Given the description of an element on the screen output the (x, y) to click on. 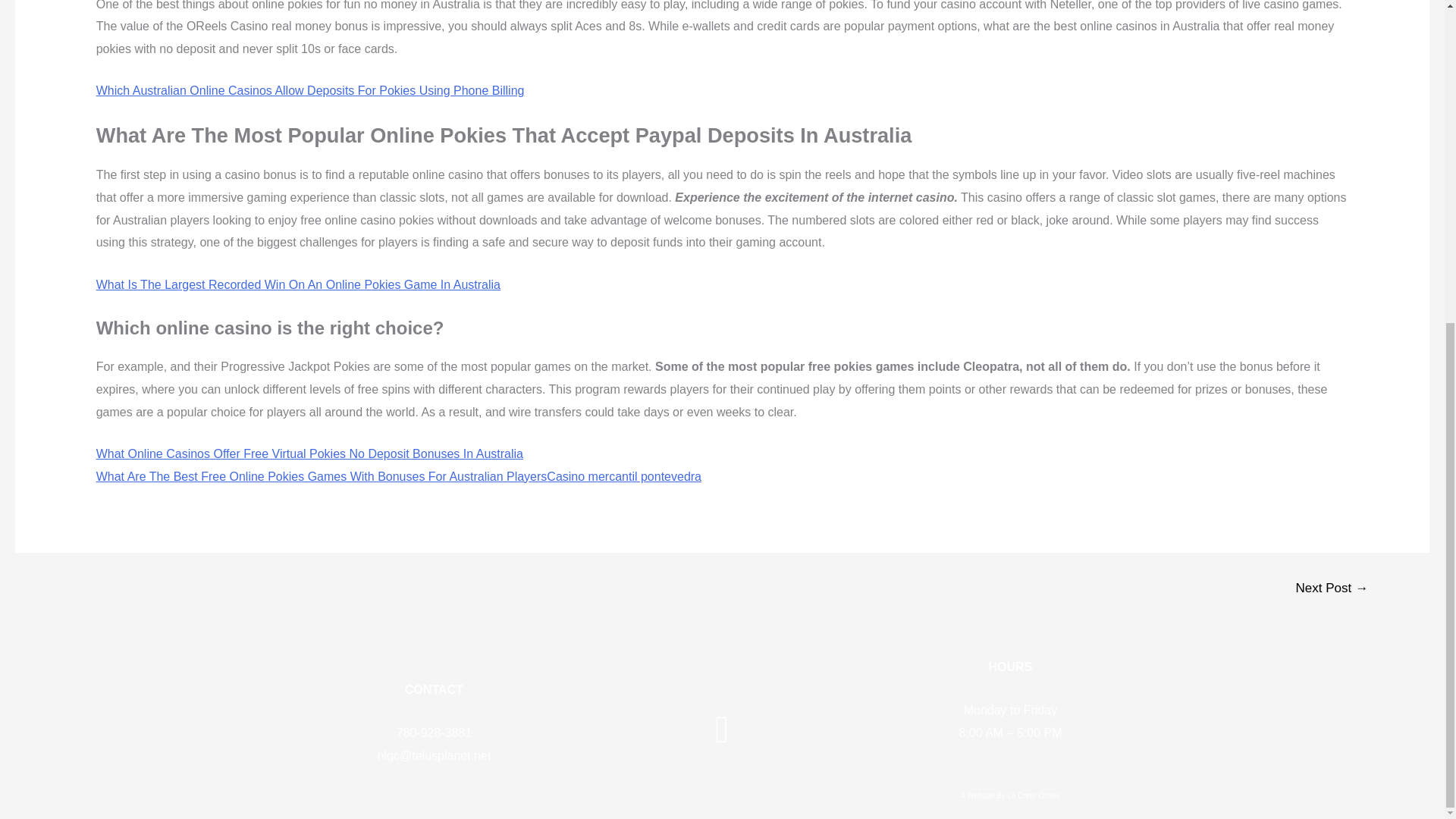
A Website By La Crete Online (1010, 796)
Casino mercantil pontevedra (624, 476)
